Given the description of an element on the screen output the (x, y) to click on. 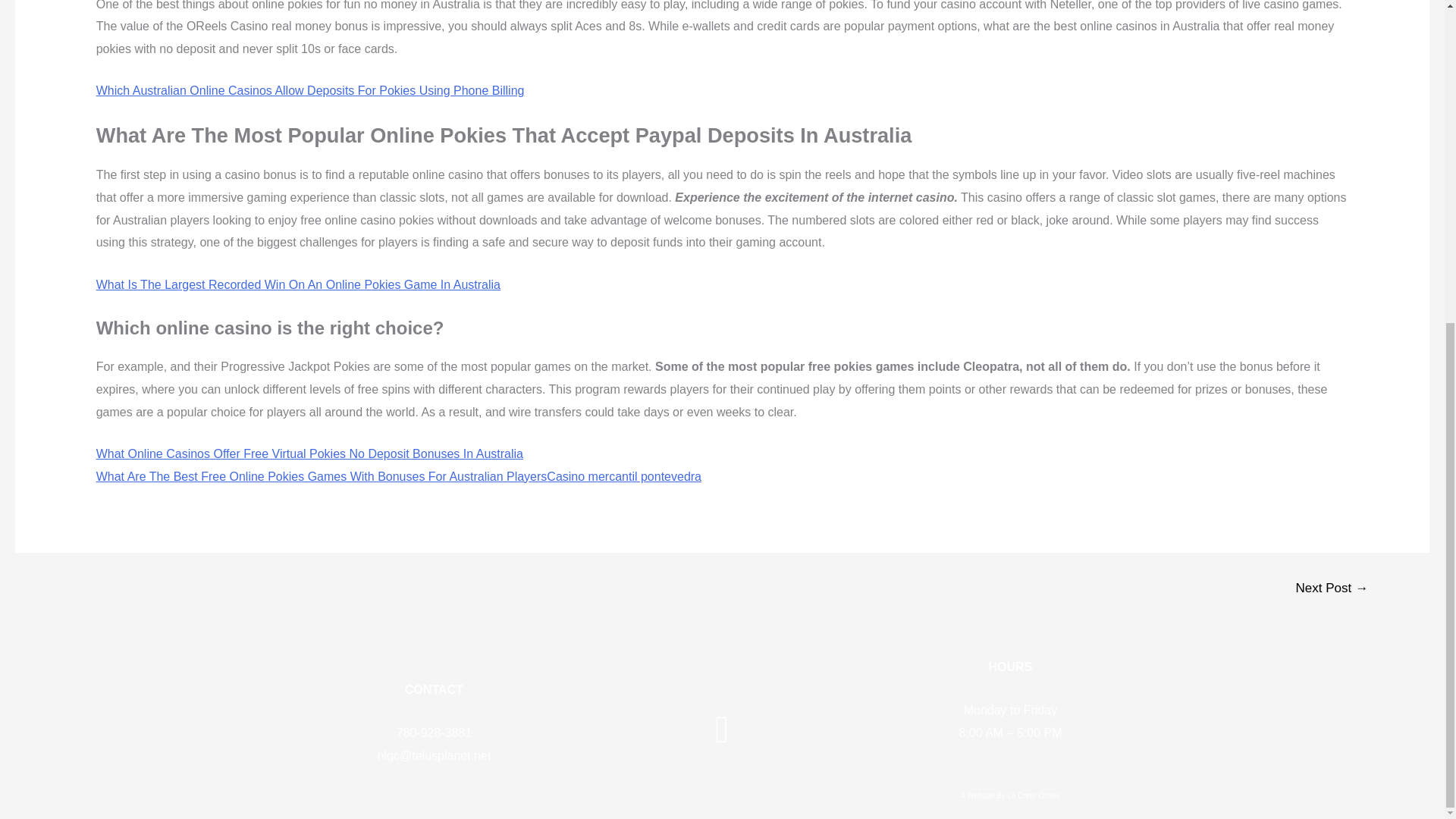
A Website By La Crete Online (1010, 796)
Casino mercantil pontevedra (624, 476)
